Given the description of an element on the screen output the (x, y) to click on. 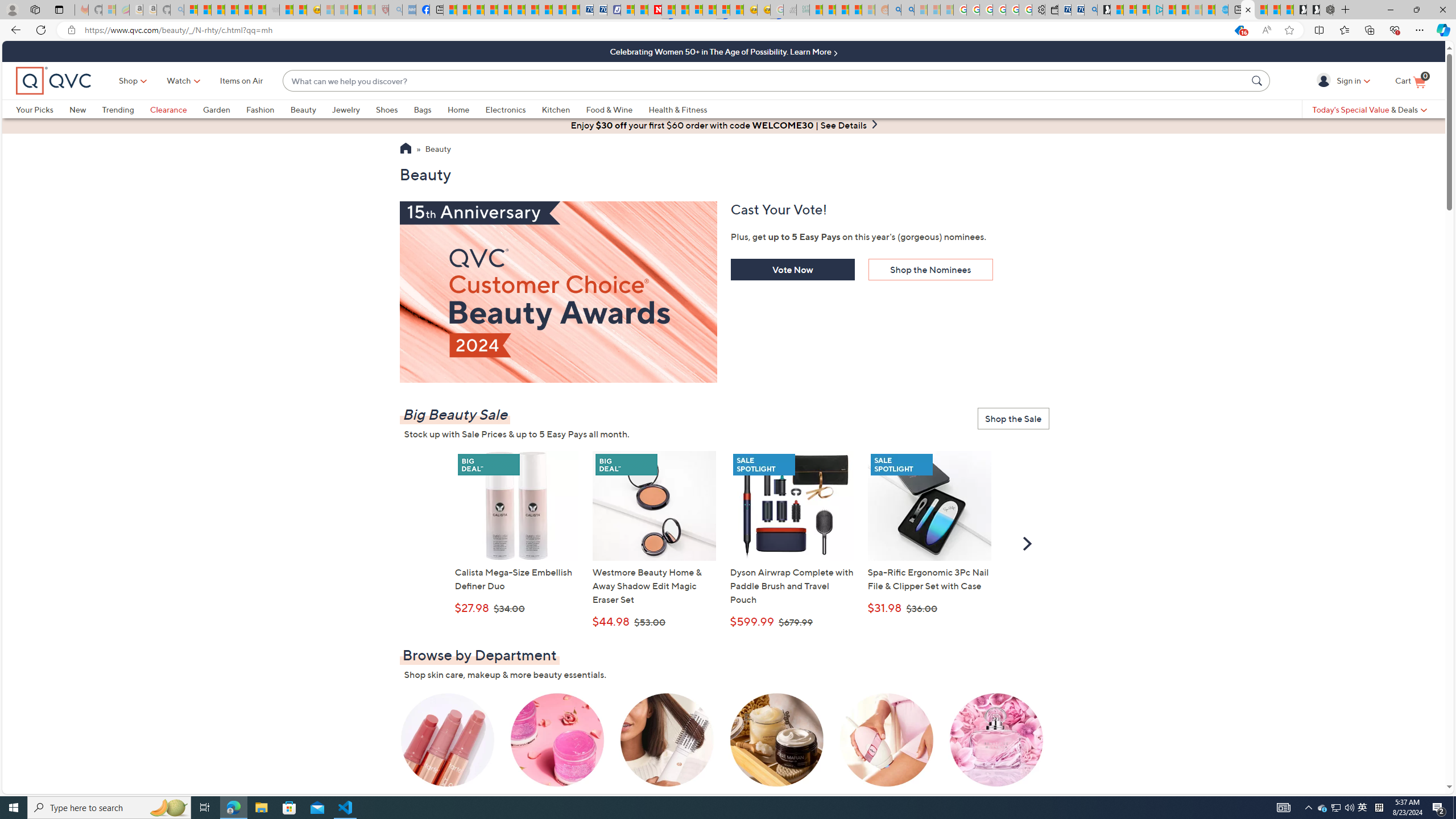
New (84, 109)
Jewelry (353, 109)
Bags (421, 109)
Stocks - MSN (258, 9)
Bath & Body (776, 748)
New Report Confirms 2023 Was Record Hot | Watch (245, 9)
Hair-Styling Tools (666, 748)
